Given the description of an element on the screen output the (x, y) to click on. 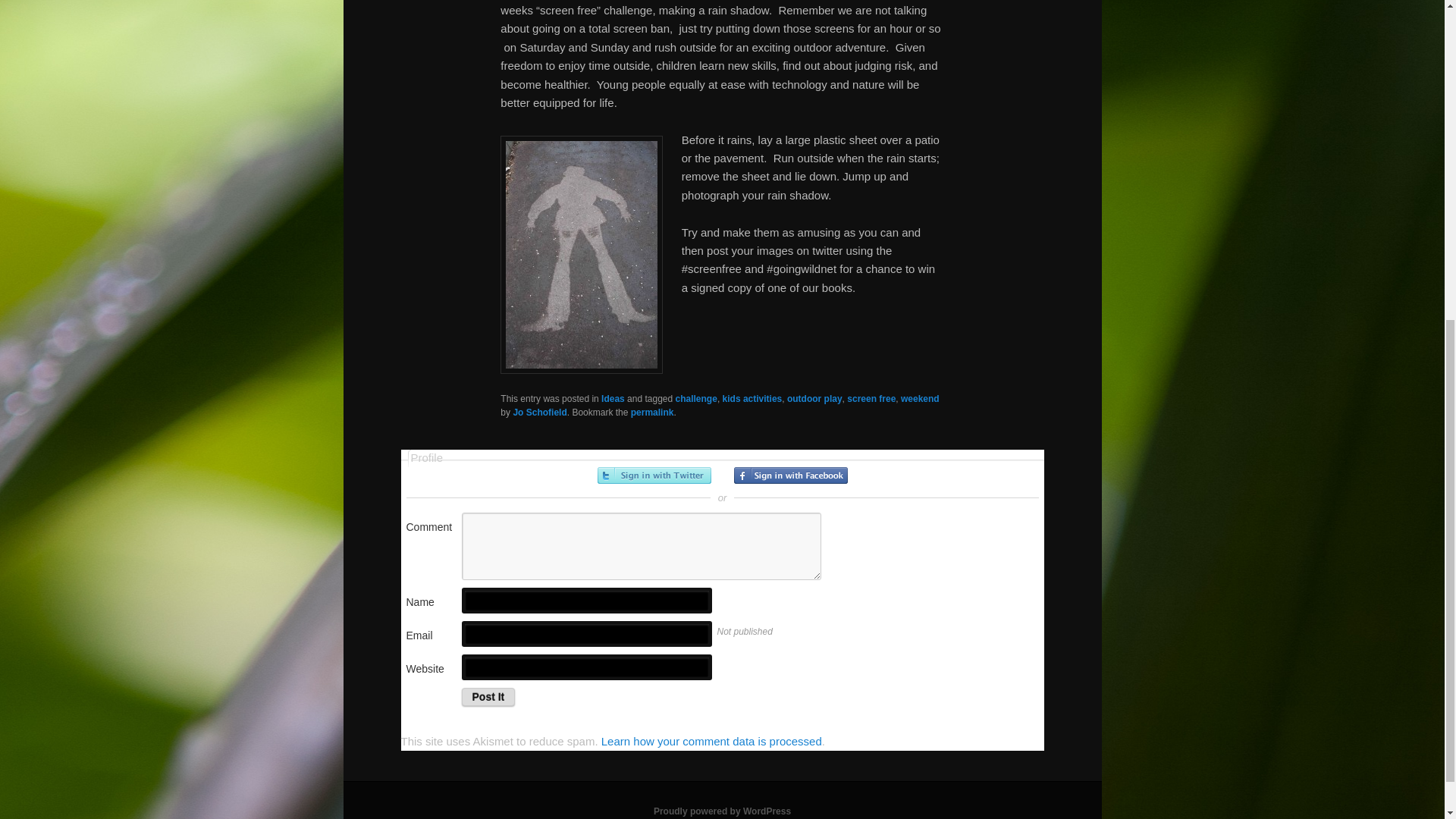
Post It (488, 696)
Post It (488, 696)
challenge (696, 398)
Proudly powered by WordPress (721, 810)
Sign in with Facebook (790, 475)
Ideas (612, 398)
permalink (652, 412)
Semantic Personal Publishing Platform (721, 810)
Learn how your comment data is processed (711, 740)
kids activities (752, 398)
Sign in with Twitter (653, 475)
screen free (871, 398)
outdoor play (815, 398)
Jo Schofield (539, 412)
weekend (920, 398)
